Given the description of an element on the screen output the (x, y) to click on. 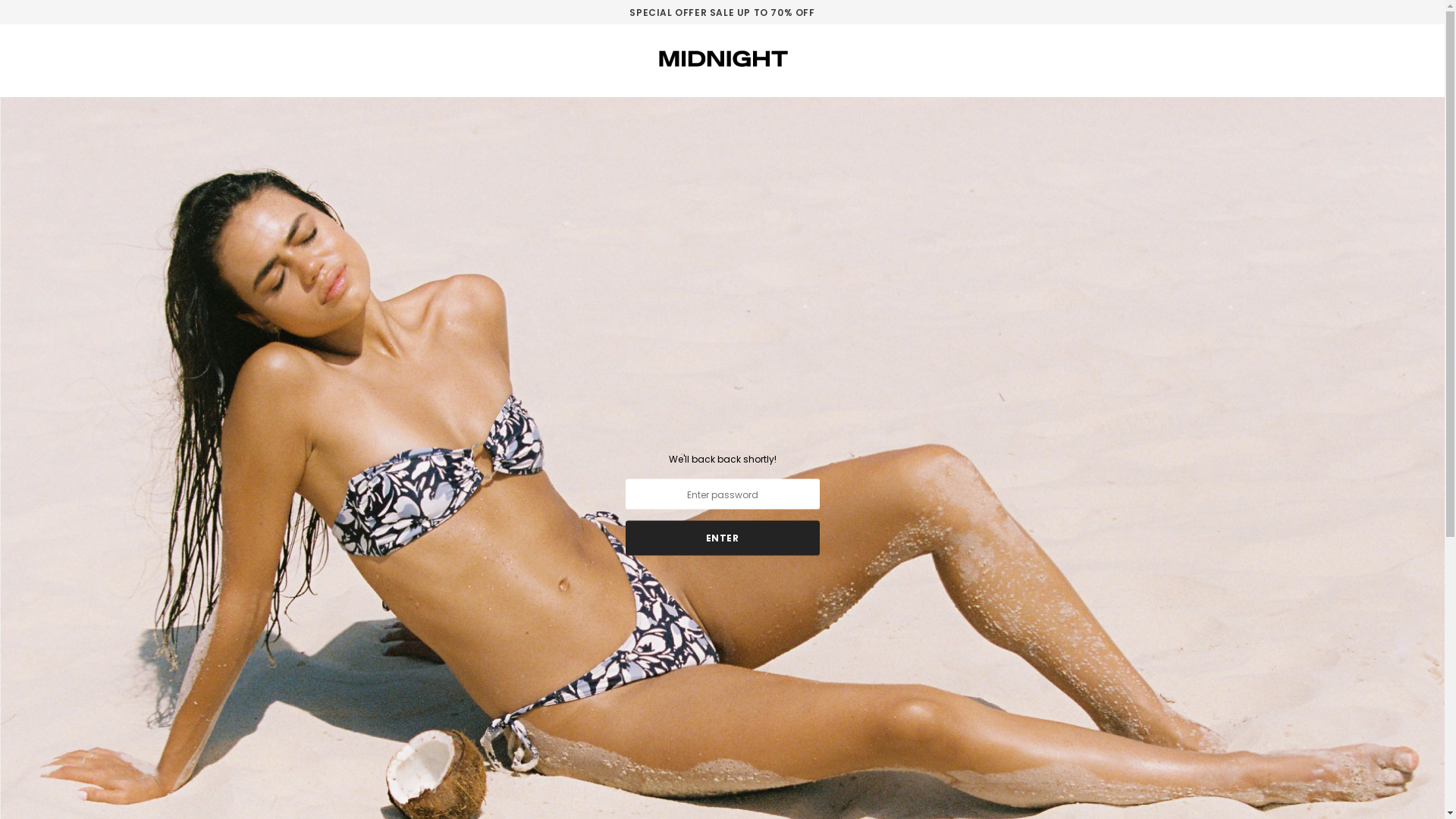
Logo Element type: hover (721, 58)
Enter Element type: text (721, 537)
